Given the description of an element on the screen output the (x, y) to click on. 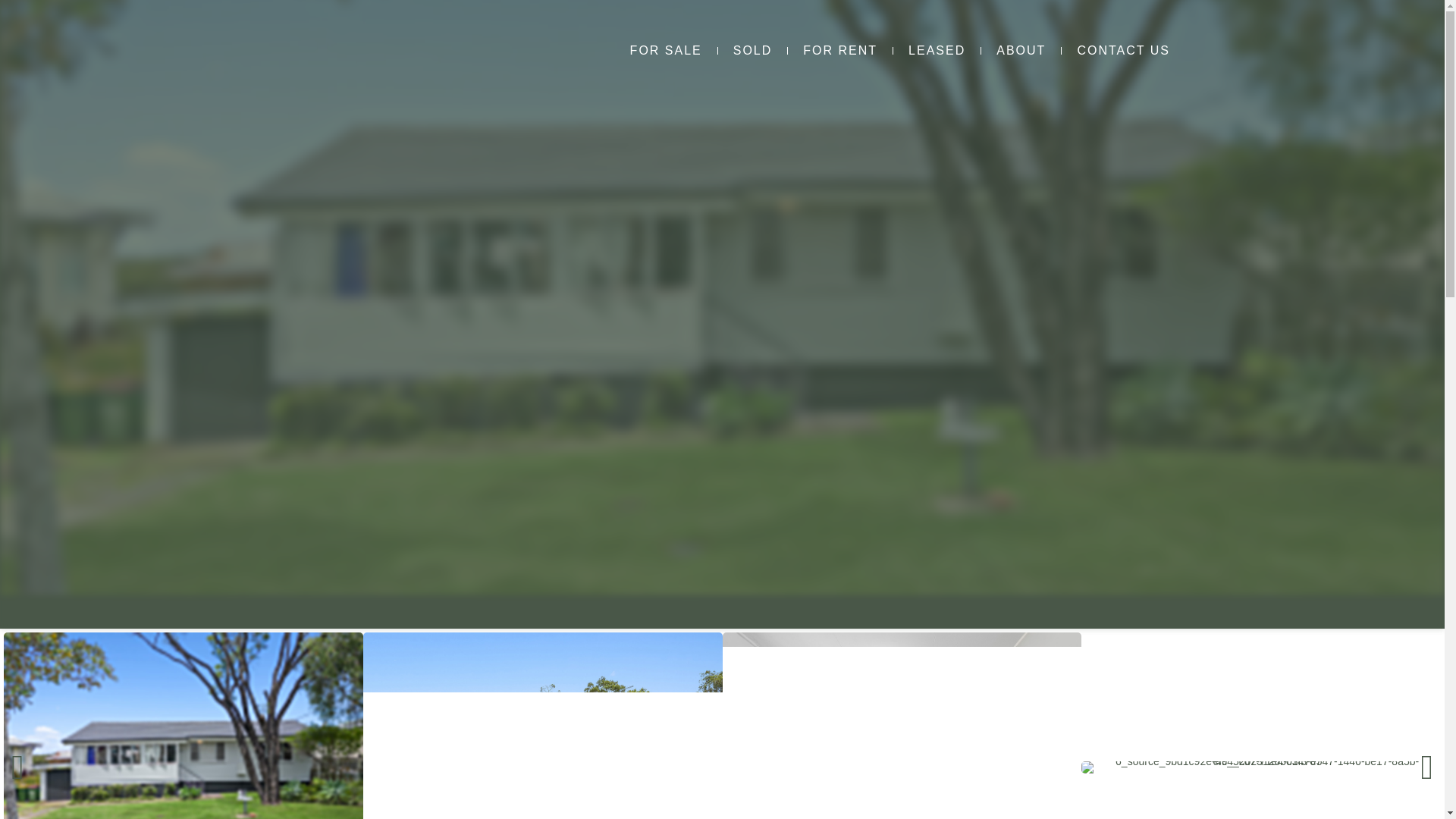
CONTACT US (1123, 50)
FOR SALE (665, 50)
LEASED (936, 50)
FOR RENT (839, 50)
SOLD (752, 50)
ABOUT (1021, 50)
